Given the description of an element on the screen output the (x, y) to click on. 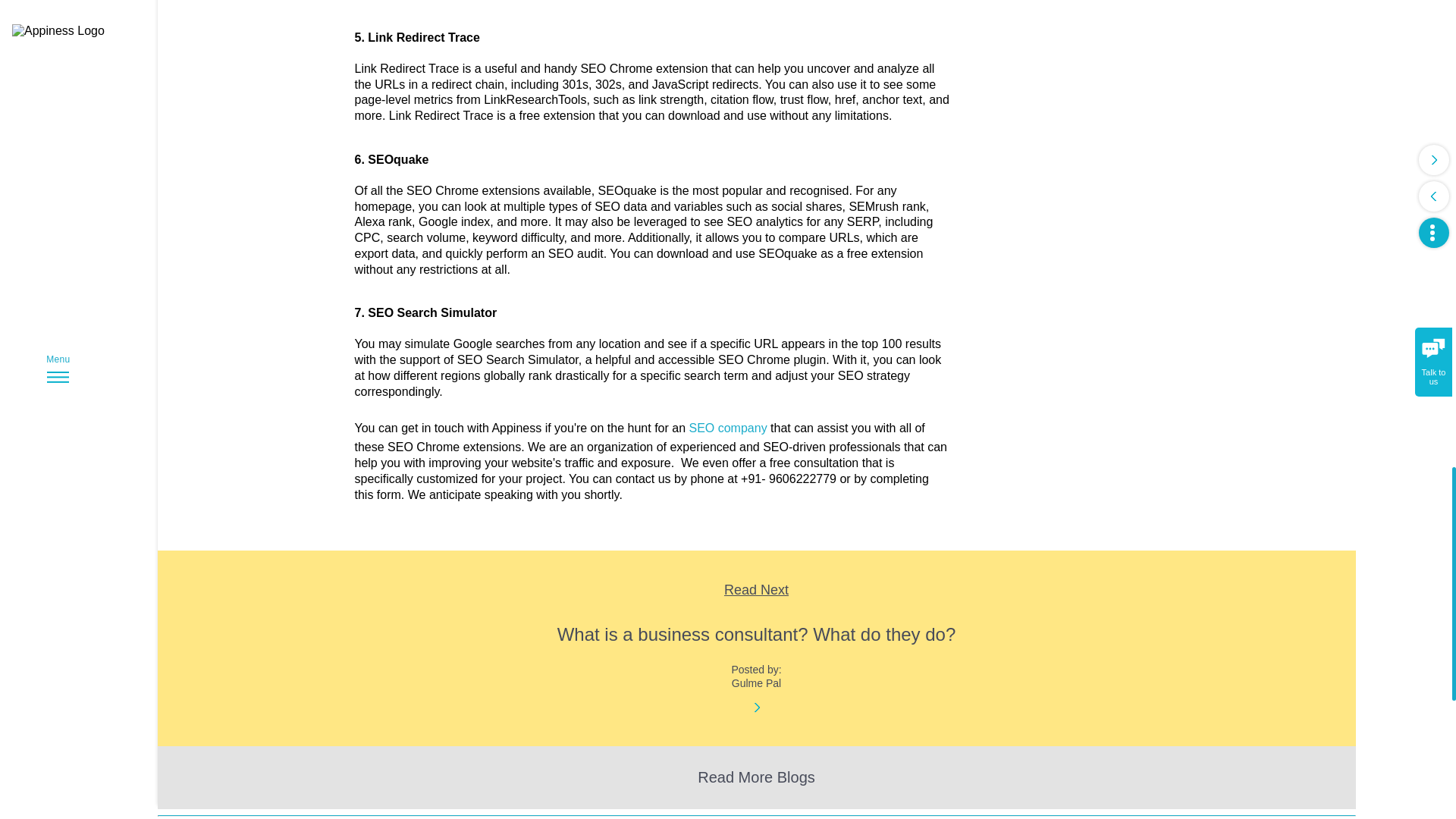
SEO company (727, 428)
